Given the description of an element on the screen output the (x, y) to click on. 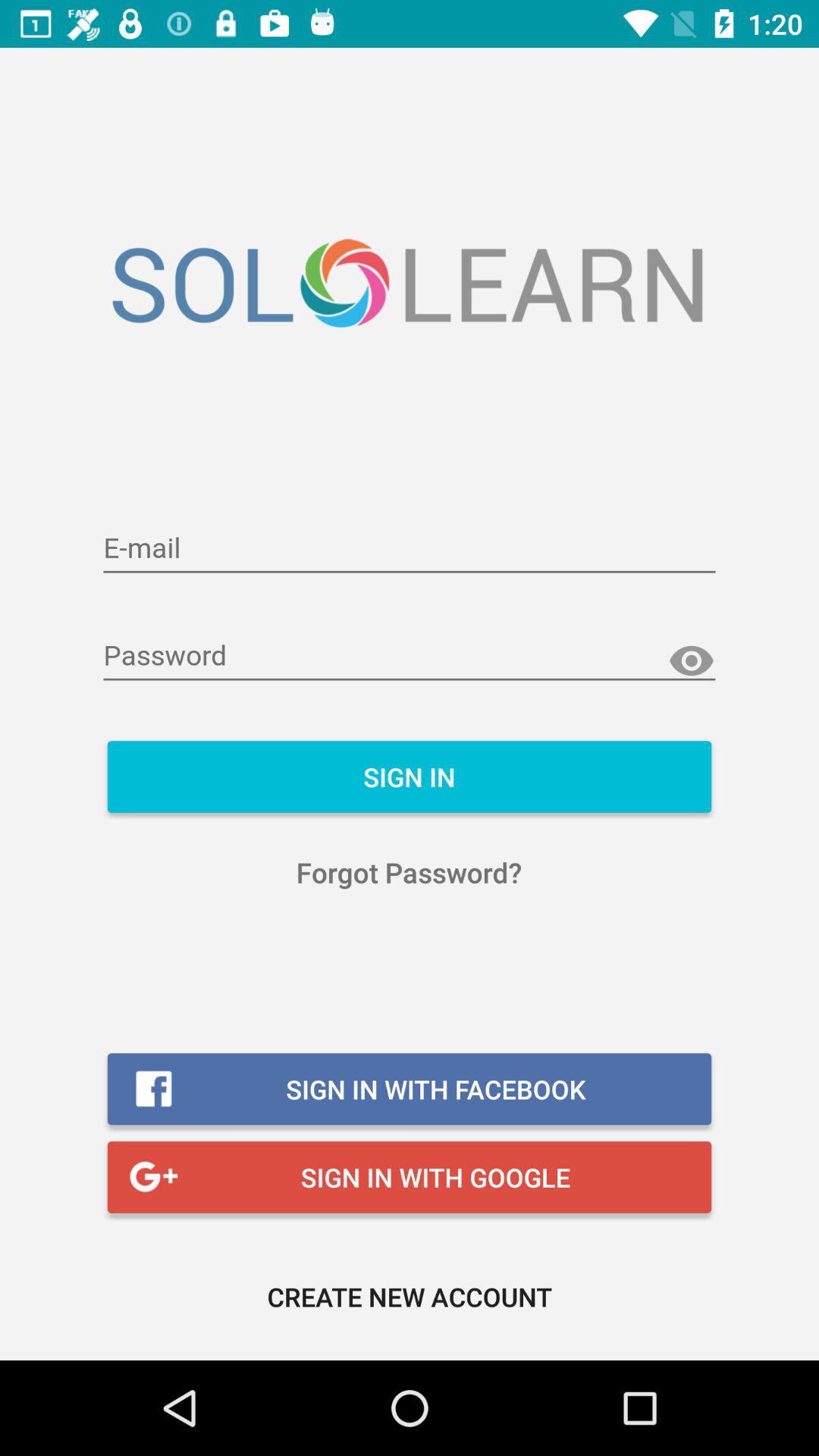
enter password credentials (409, 656)
